Given the description of an element on the screen output the (x, y) to click on. 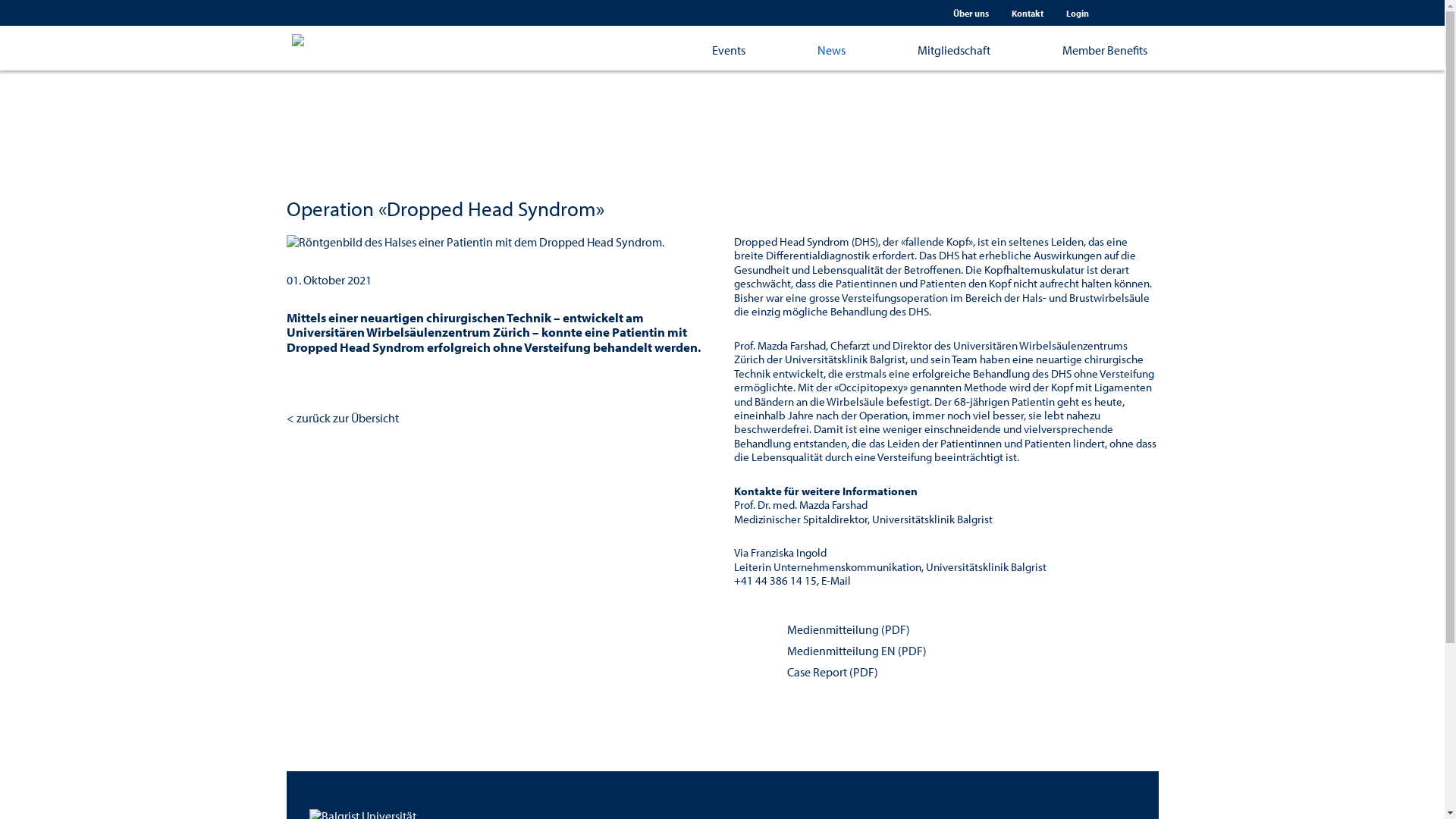
Login Element type: text (1077, 12)
Member Benefits Element type: text (1091, 57)
Case Report (PDF) Element type: text (818, 672)
E-Mail Element type: text (835, 581)
Balgrist Alumni Element type: hover (404, 55)
  Element type: text (1141, 13)
News Element type: text (840, 57)
Kontakt Element type: text (1027, 12)
+41 44 386 14 15 Element type: text (775, 581)
Mitgliedschaft Element type: text (962, 57)
Events Element type: text (737, 57)
Medienmitteilung (PDF) Element type: text (834, 630)
Medienmitteilung EN (PDF) Element type: text (842, 651)
